Given the description of an element on the screen output the (x, y) to click on. 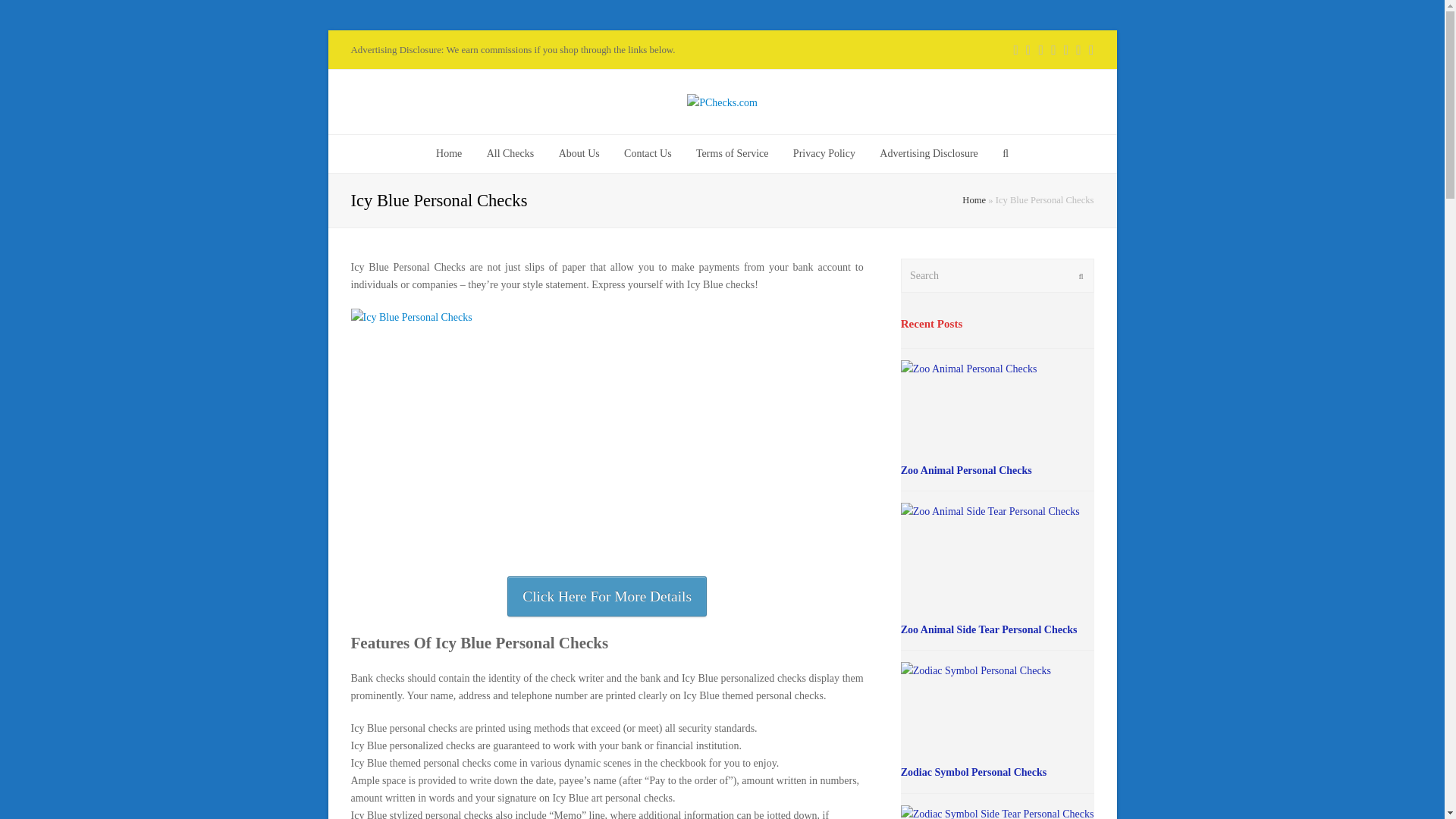
Zoo Animal Side Tear Personal Checks (989, 629)
Terms of Service (732, 153)
About Us (578, 153)
All Checks (510, 153)
Privacy Policy (823, 153)
Home (448, 153)
Zoo Animal Personal Checks (966, 470)
Contact Us (647, 153)
Home (973, 199)
Click Here For More Details (606, 596)
Advertising Disclosure (928, 153)
Click Here For More Details (606, 596)
PChecks.com (722, 101)
